Given the description of an element on the screen output the (x, y) to click on. 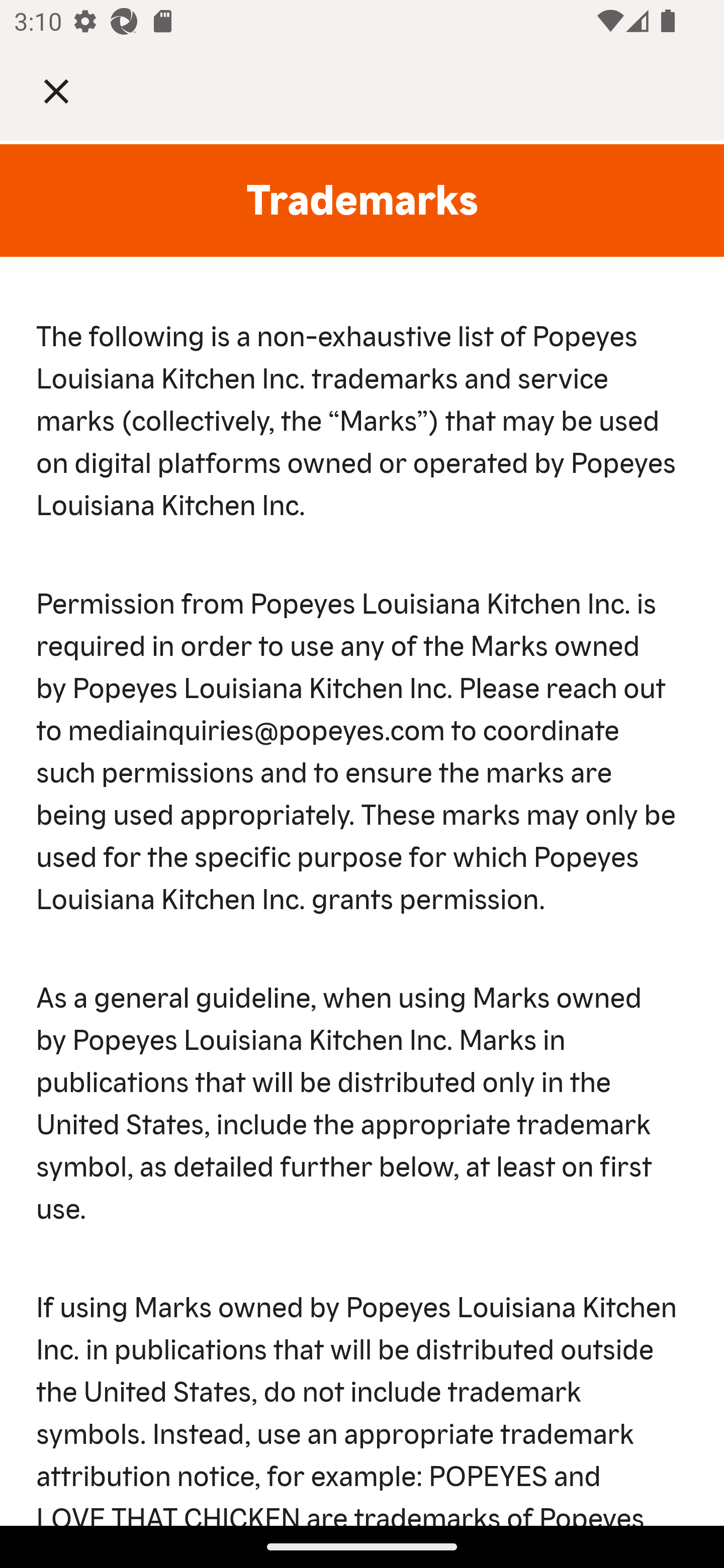
 (70, 90)
